Given the description of an element on the screen output the (x, y) to click on. 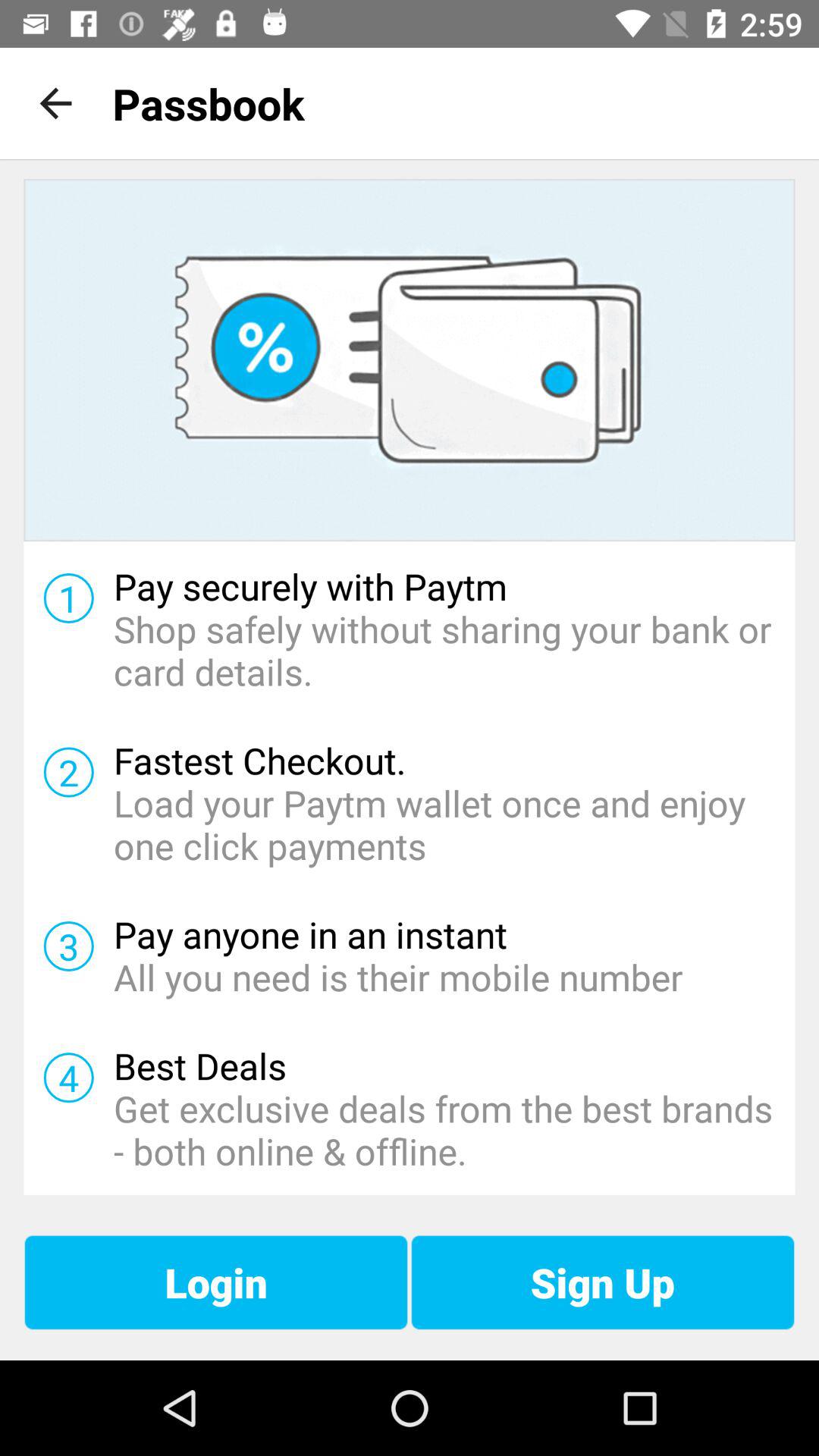
open the icon next to login icon (602, 1282)
